Given the description of an element on the screen output the (x, y) to click on. 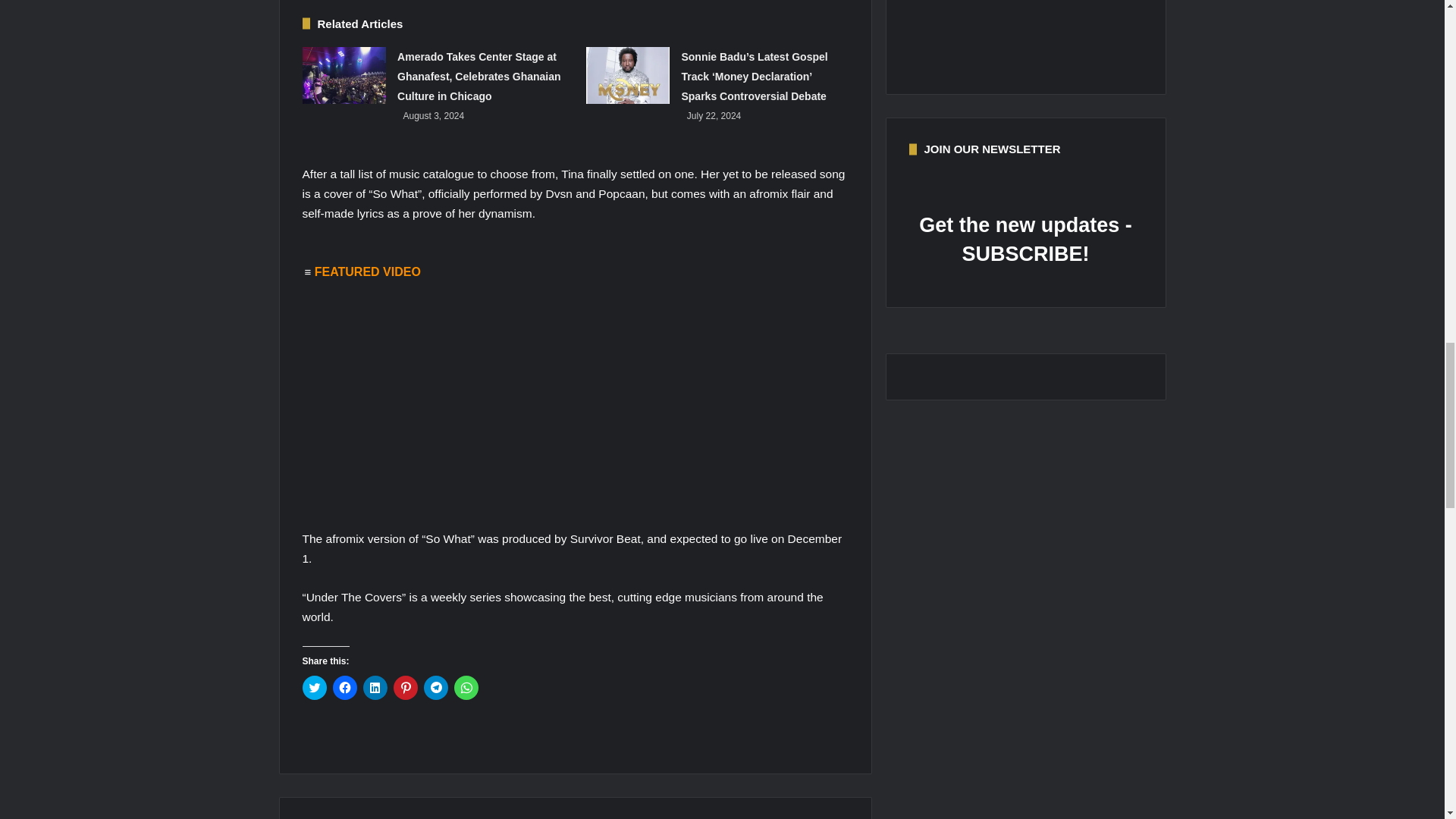
Click to share on LinkedIn (374, 687)
Click to share on Pinterest (404, 687)
Click to share on Facebook (343, 687)
YouTube video player (516, 400)
Click to share on Twitter (313, 687)
